Given the description of an element on the screen output the (x, y) to click on. 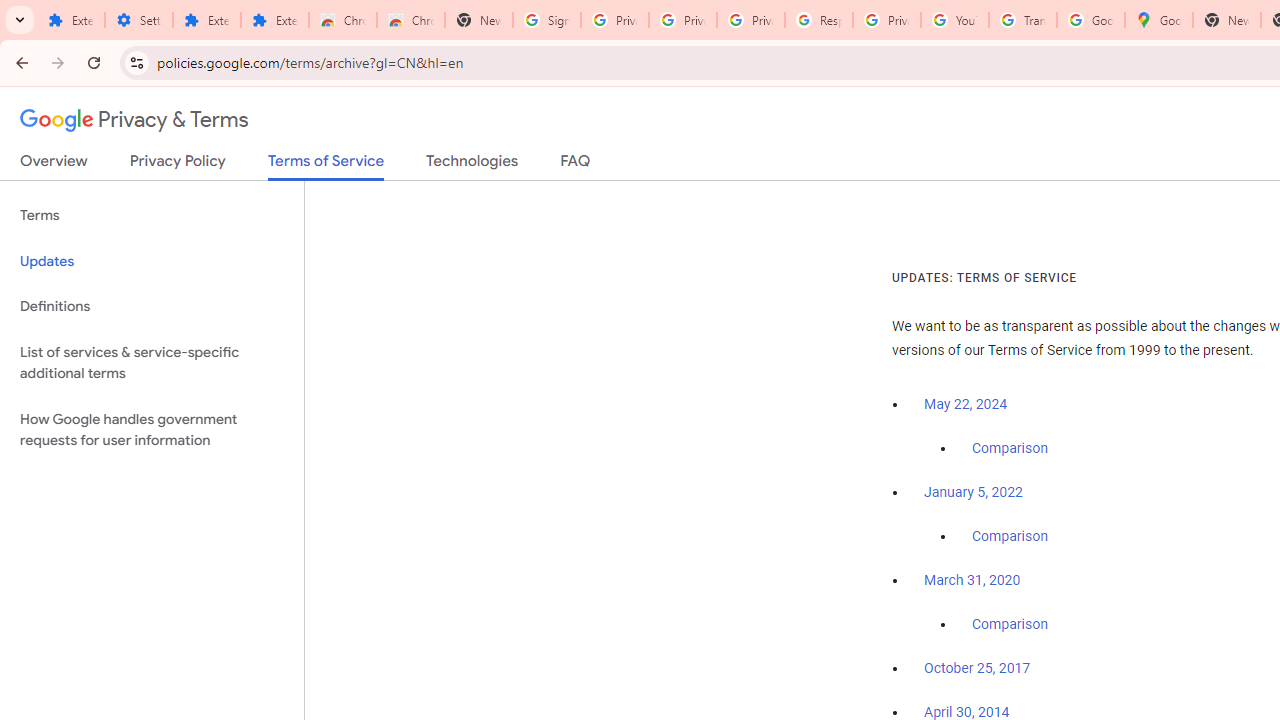
Chrome Web Store (342, 20)
YouTube (954, 20)
Sign in - Google Accounts (547, 20)
March 31, 2020 (972, 580)
Comparison (1009, 625)
Extensions (274, 20)
Extensions (206, 20)
Privacy & Terms (134, 120)
Definitions (152, 306)
Privacy Policy (177, 165)
Chrome Web Store - Themes (411, 20)
